Given the description of an element on the screen output the (x, y) to click on. 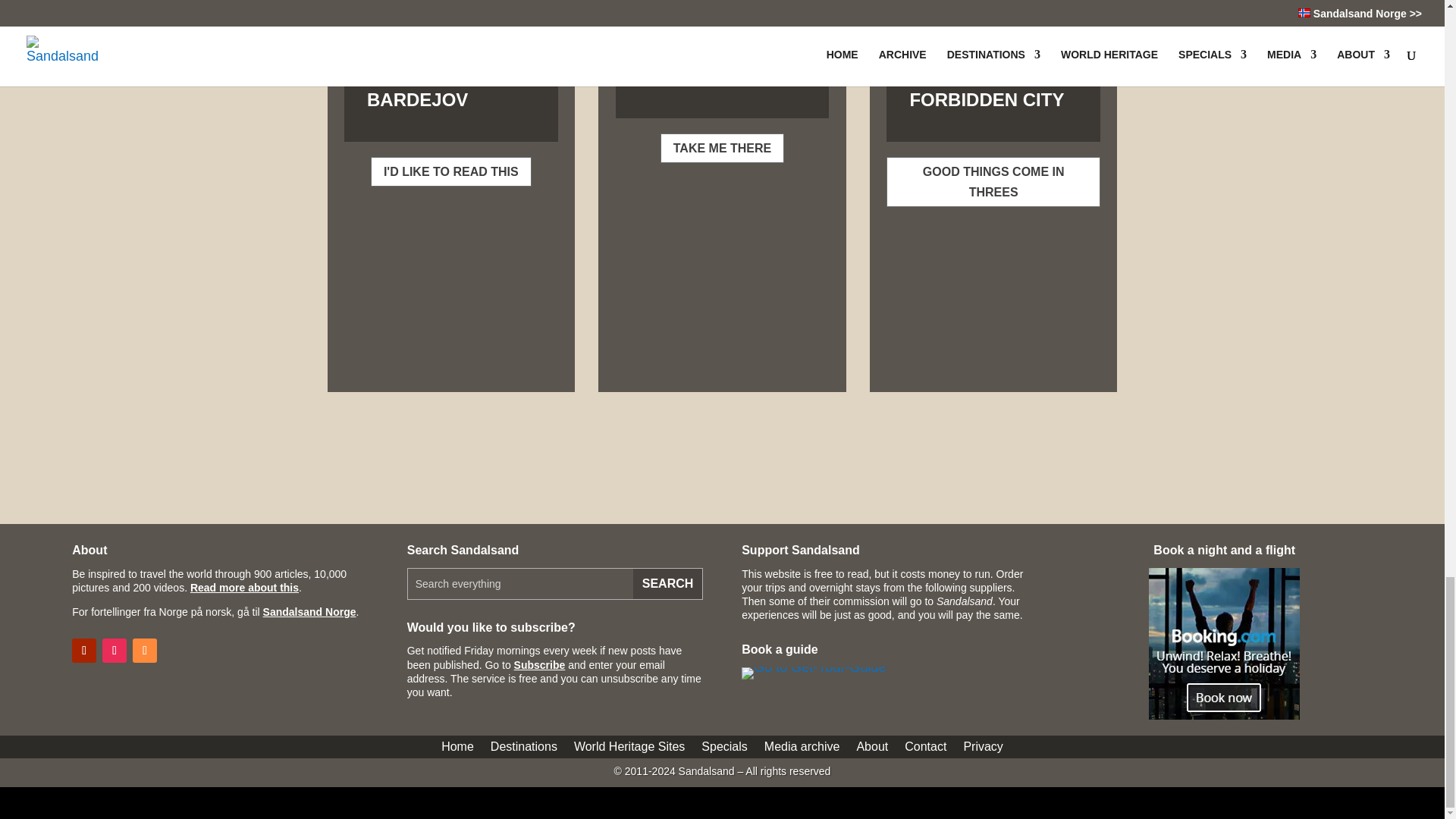
Follow on RSS (144, 650)
Search (667, 583)
Read more on the About page (244, 587)
Follow on Instagram (113, 650)
Follow on Youtube (83, 650)
Search (667, 583)
